Given the description of an element on the screen output the (x, y) to click on. 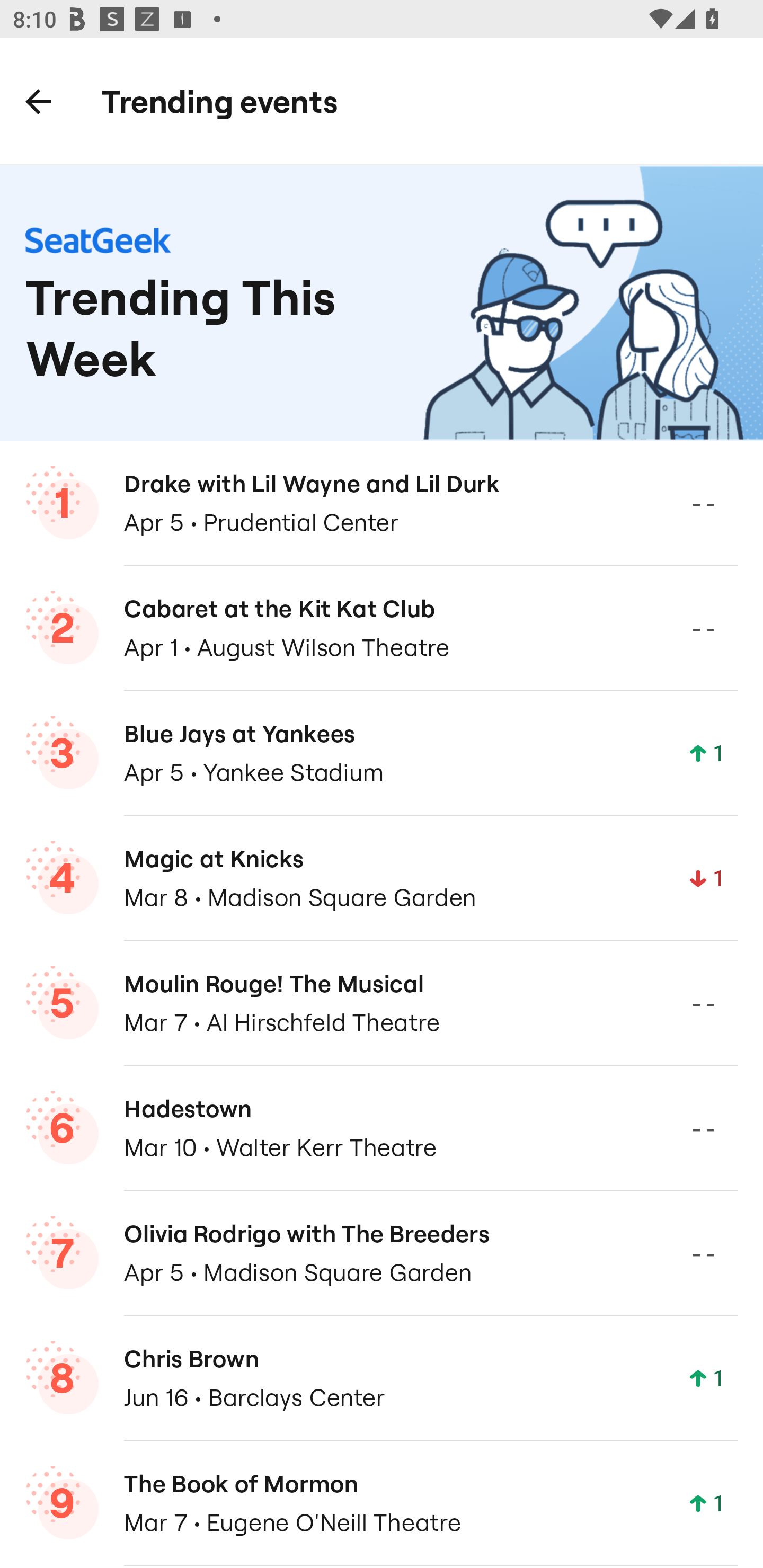
Back (38, 100)
